Given the description of an element on the screen output the (x, y) to click on. 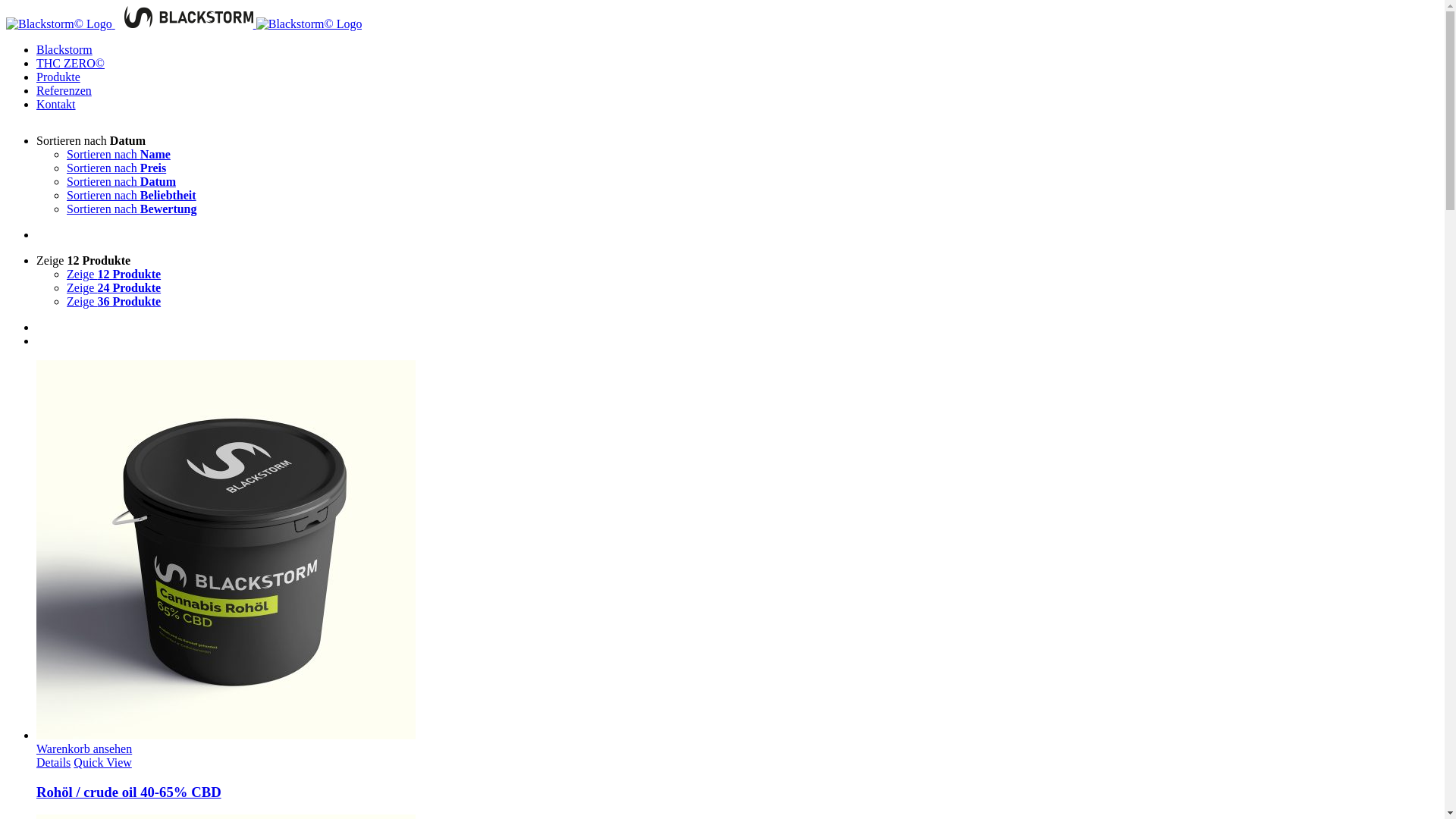
Sortieren nach Name Element type: text (118, 153)
Zeige 36 Produkte Element type: text (113, 300)
Sortieren nach Datum Element type: text (90, 140)
Zeige 12 Produkte Element type: text (83, 260)
Blackstorm Element type: text (64, 49)
Warenkorb ansehen Element type: text (737, 749)
Quick View Element type: text (102, 762)
Sortieren nach Datum Element type: text (120, 181)
Kontakt Element type: text (55, 103)
Zum Inhalt springen Element type: text (5, 5)
Produkte Element type: text (58, 76)
Sortieren nach Bewertung Element type: text (131, 208)
Zeige 24 Produkte Element type: text (113, 287)
Sortieren nach Beliebtheit Element type: text (131, 194)
Sortieren nach Preis Element type: text (116, 167)
Referenzen Element type: text (63, 90)
Zeige 12 Produkte Element type: text (113, 273)
Details Element type: text (53, 762)
